Given the description of an element on the screen output the (x, y) to click on. 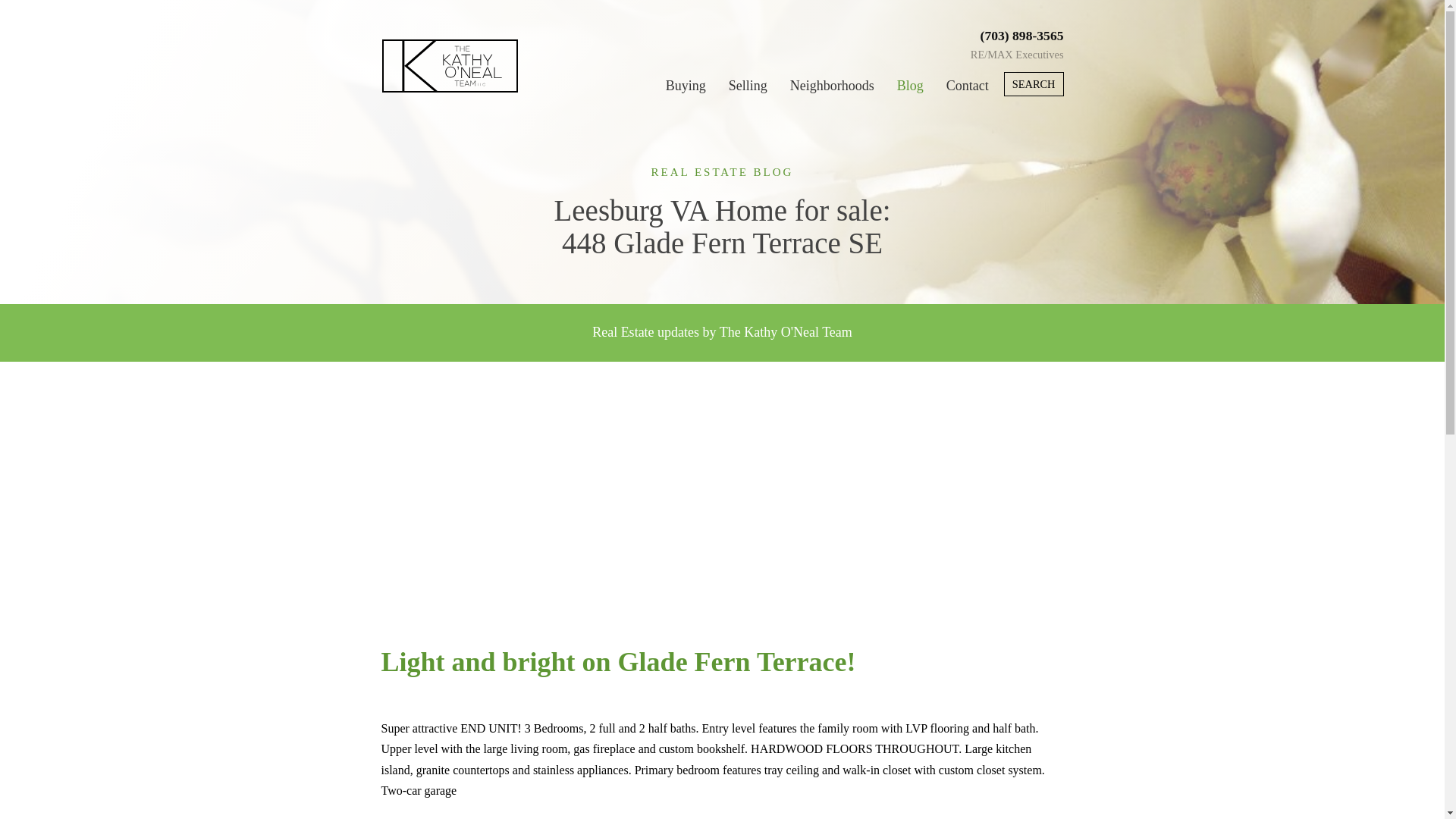
448 Glade Fern Terrace SE Video Tour (570, 498)
Neighborhoods (832, 89)
Featured Listings (456, 818)
Selling (747, 89)
Blog (910, 89)
Buying (685, 89)
Contact (967, 89)
SEARCH (1034, 84)
